Given the description of an element on the screen output the (x, y) to click on. 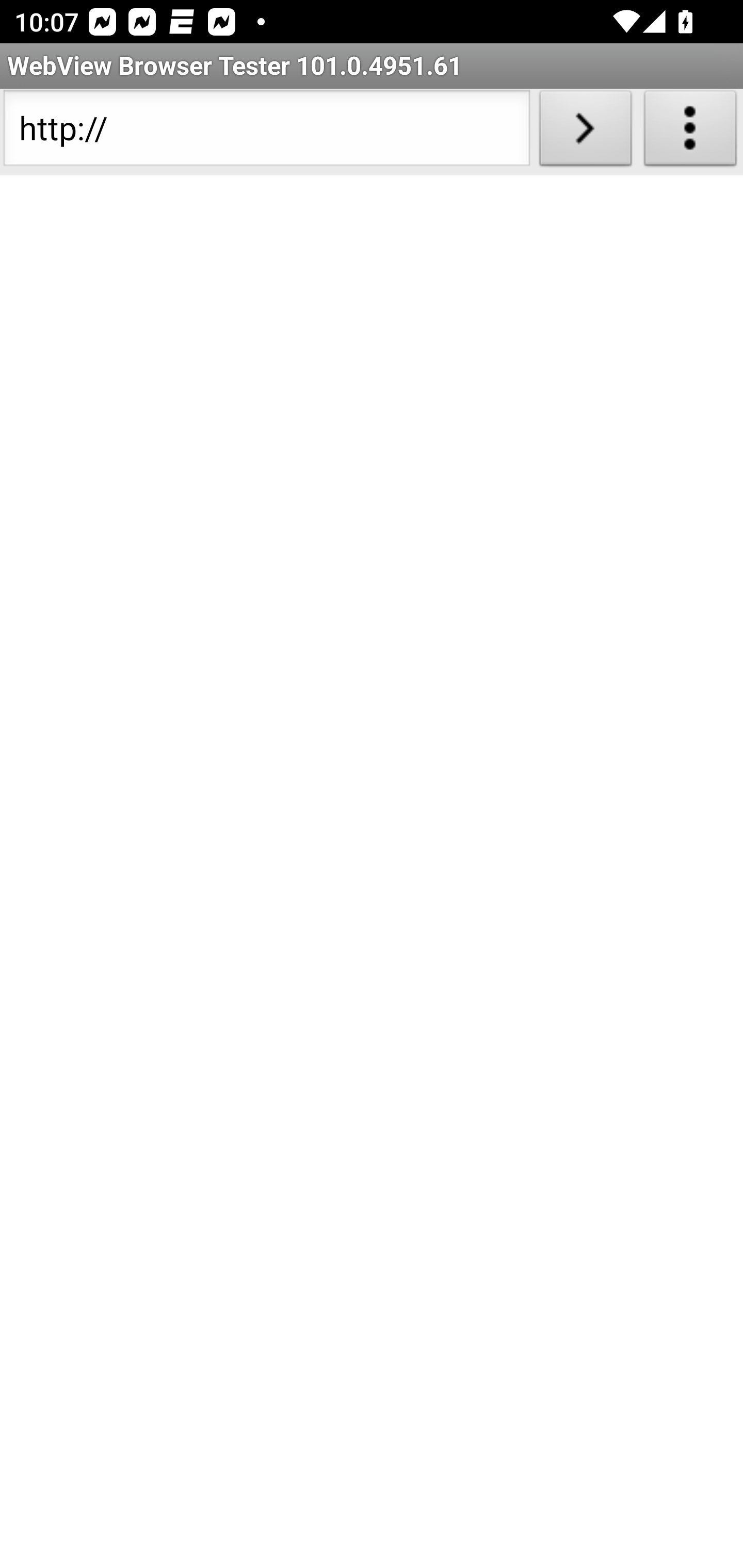
http:// (266, 132)
Load URL (585, 132)
About WebView (690, 132)
